Given the description of an element on the screen output the (x, y) to click on. 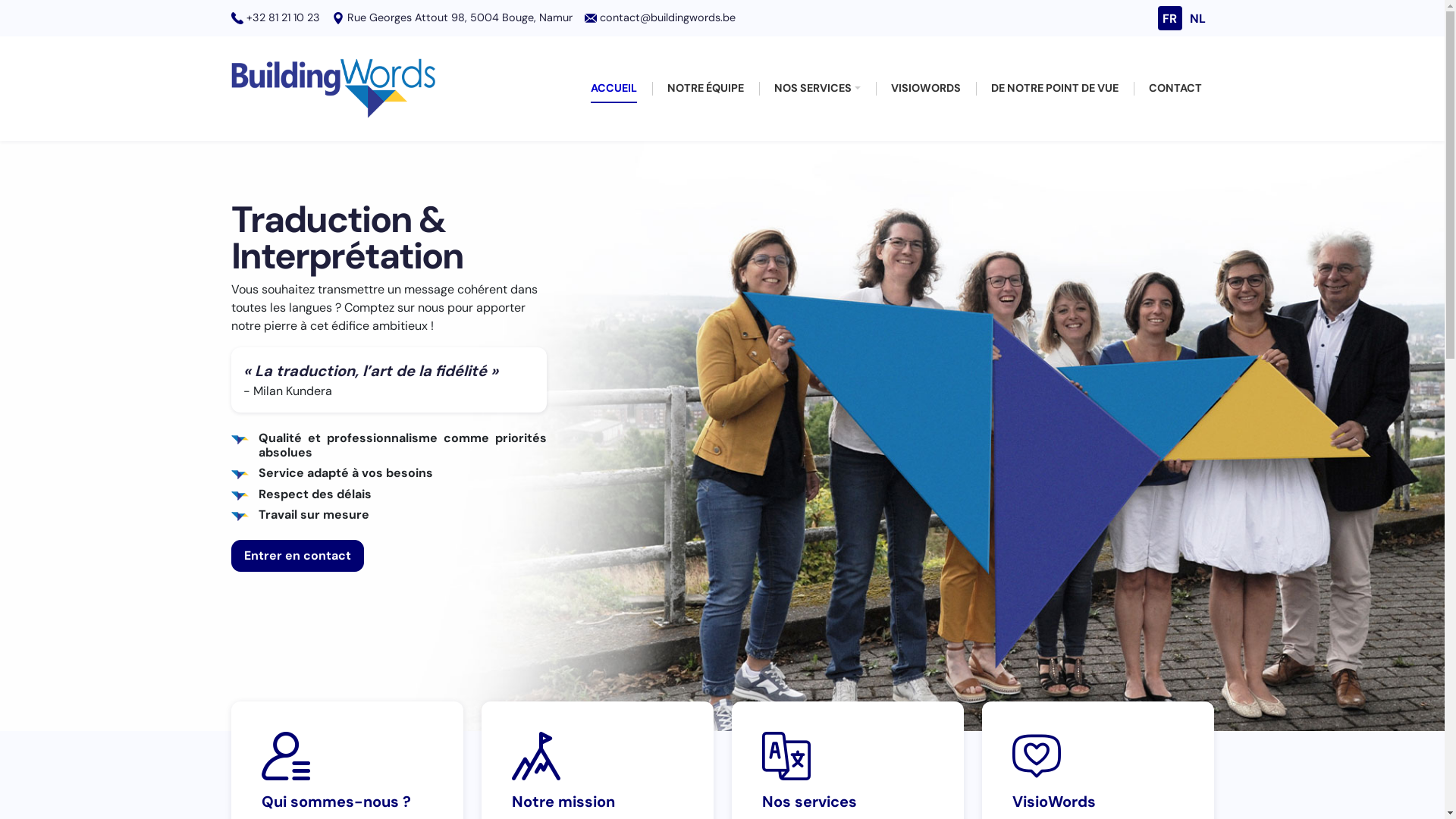
+32 81 21 10 23 Element type: text (282, 17)
VISIOWORDS Element type: text (925, 88)
NL Element type: text (1198, 20)
FR Element type: text (1169, 20)
contact@buildingwords.be Element type: text (666, 17)
DE NOTRE POINT DE VUE Element type: text (1053, 88)
Entrer en contact Element type: text (296, 555)
ACCUEIL Element type: text (613, 88)
NOS SERVICES Element type: text (817, 88)
CONTACT Element type: text (1174, 88)
